Given the description of an element on the screen output the (x, y) to click on. 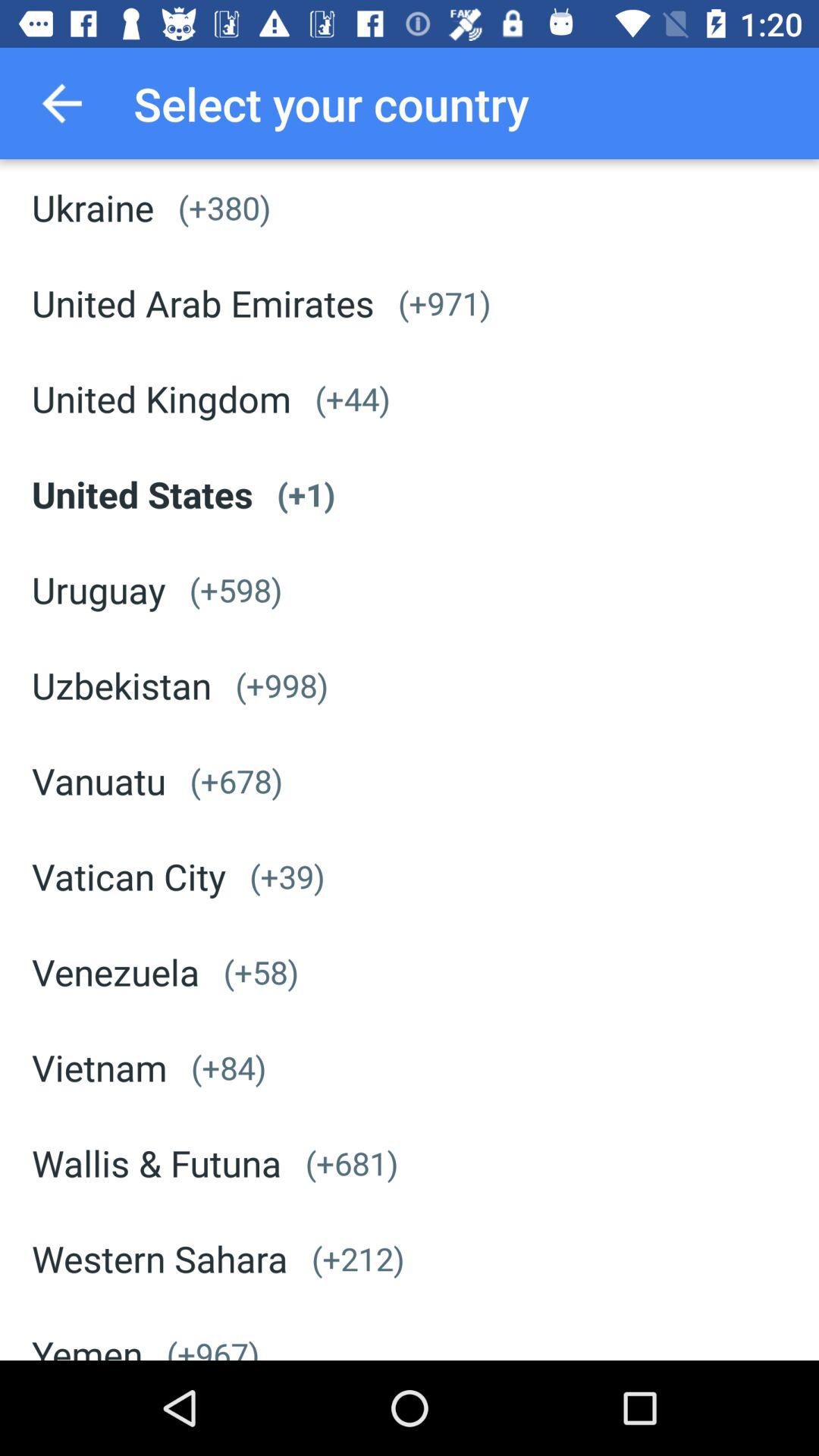
click the yemen app (86, 1344)
